Given the description of an element on the screen output the (x, y) to click on. 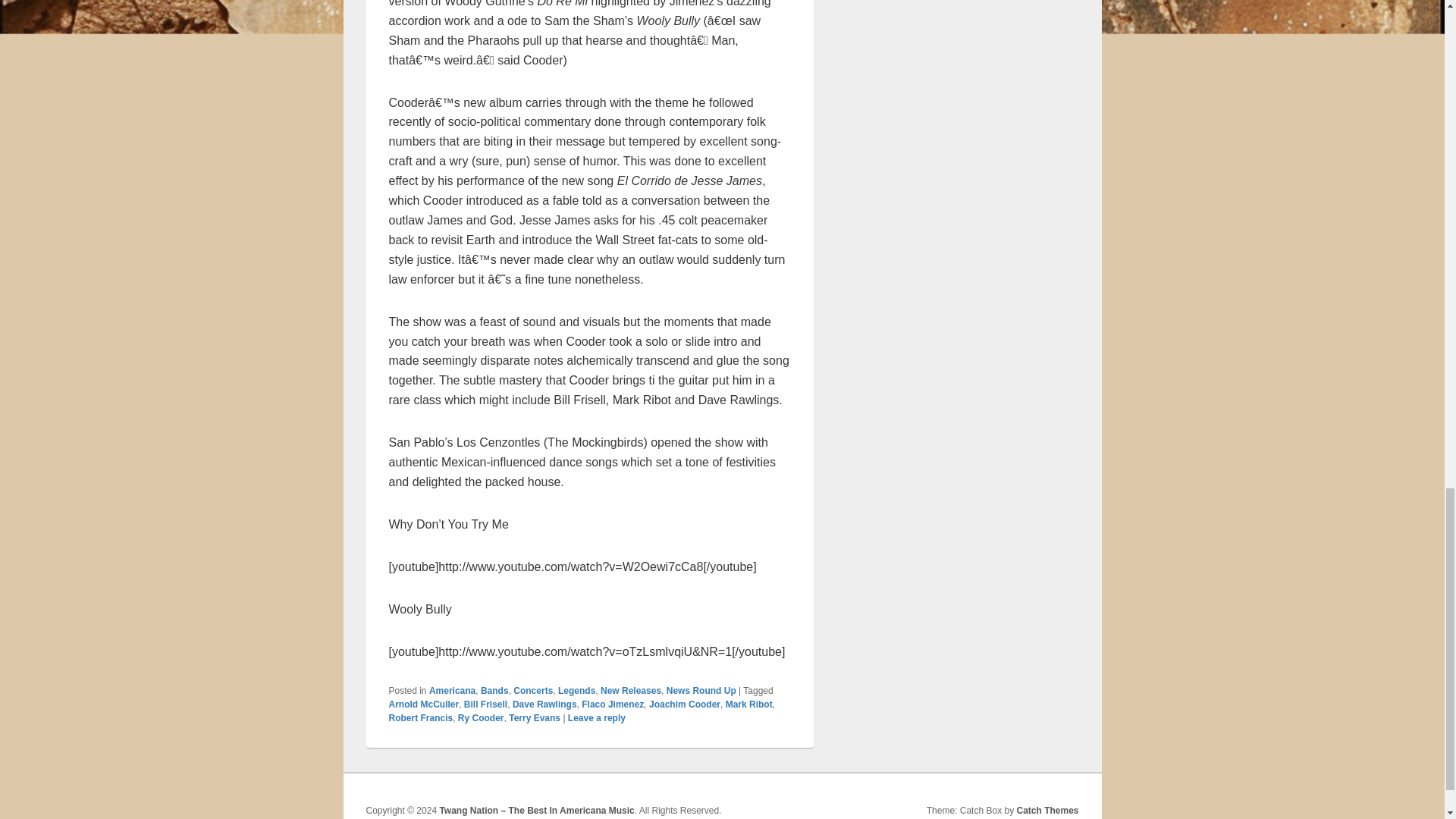
News Round Up (701, 690)
Concerts (533, 690)
Catch Themes (1047, 810)
Bill Frisell (485, 704)
Ry Cooder (480, 717)
Legends (576, 690)
New Releases (630, 690)
Terry Evans (534, 717)
Joachim Cooder (684, 704)
Americana (452, 690)
